Given the description of an element on the screen output the (x, y) to click on. 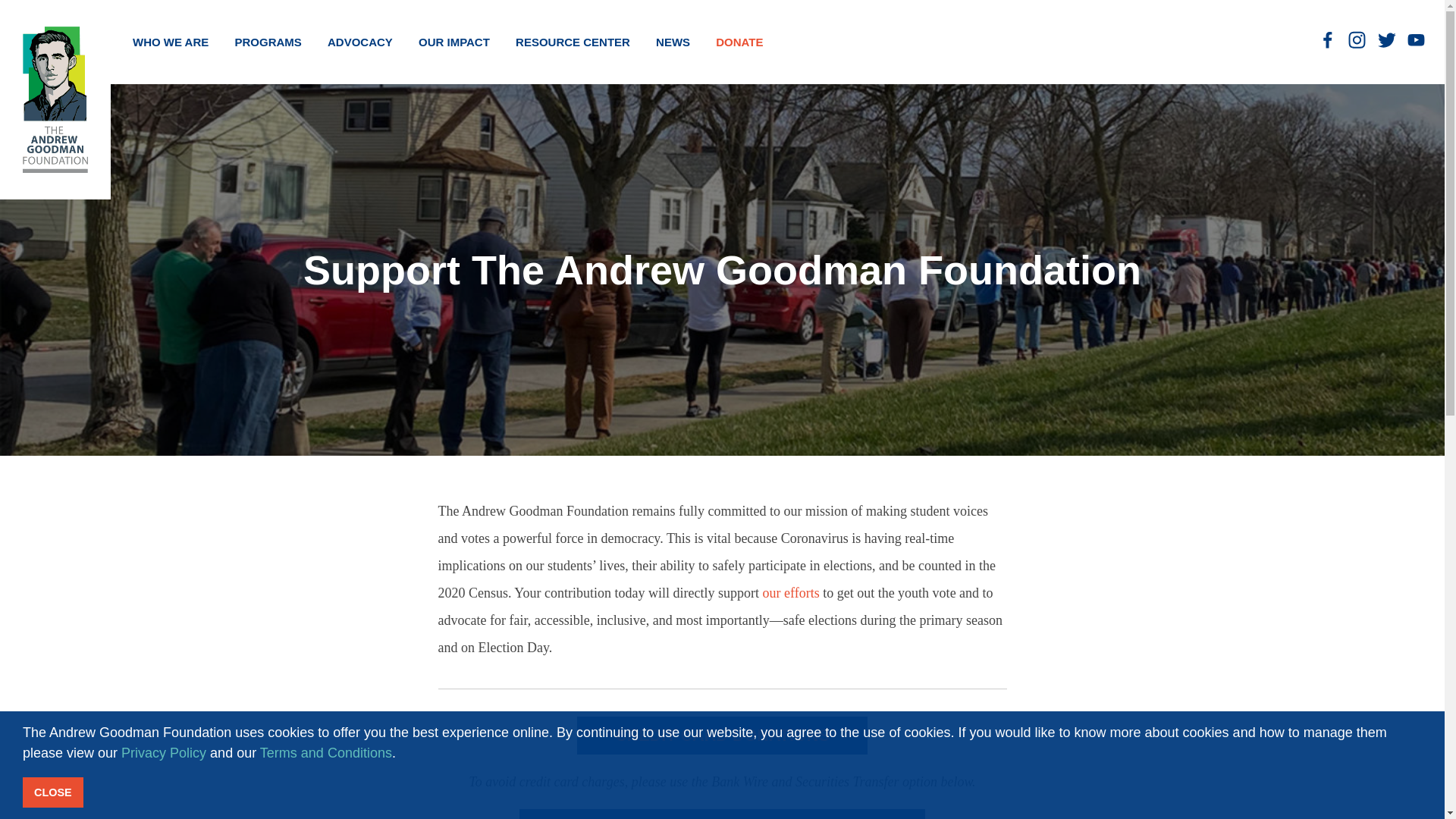
Follow us on Facebook (1327, 39)
CREDIT CARD DONATIONS (721, 735)
Follow us on Instagram (1356, 39)
RESOURCE CENTER (572, 42)
our efforts (789, 592)
WHO WE ARE (170, 42)
Follow us on Twitter (1386, 39)
Follow us on YouTube (1416, 39)
BANK WIRE AND SECURITIES TRANSFER (722, 814)
